Given the description of an element on the screen output the (x, y) to click on. 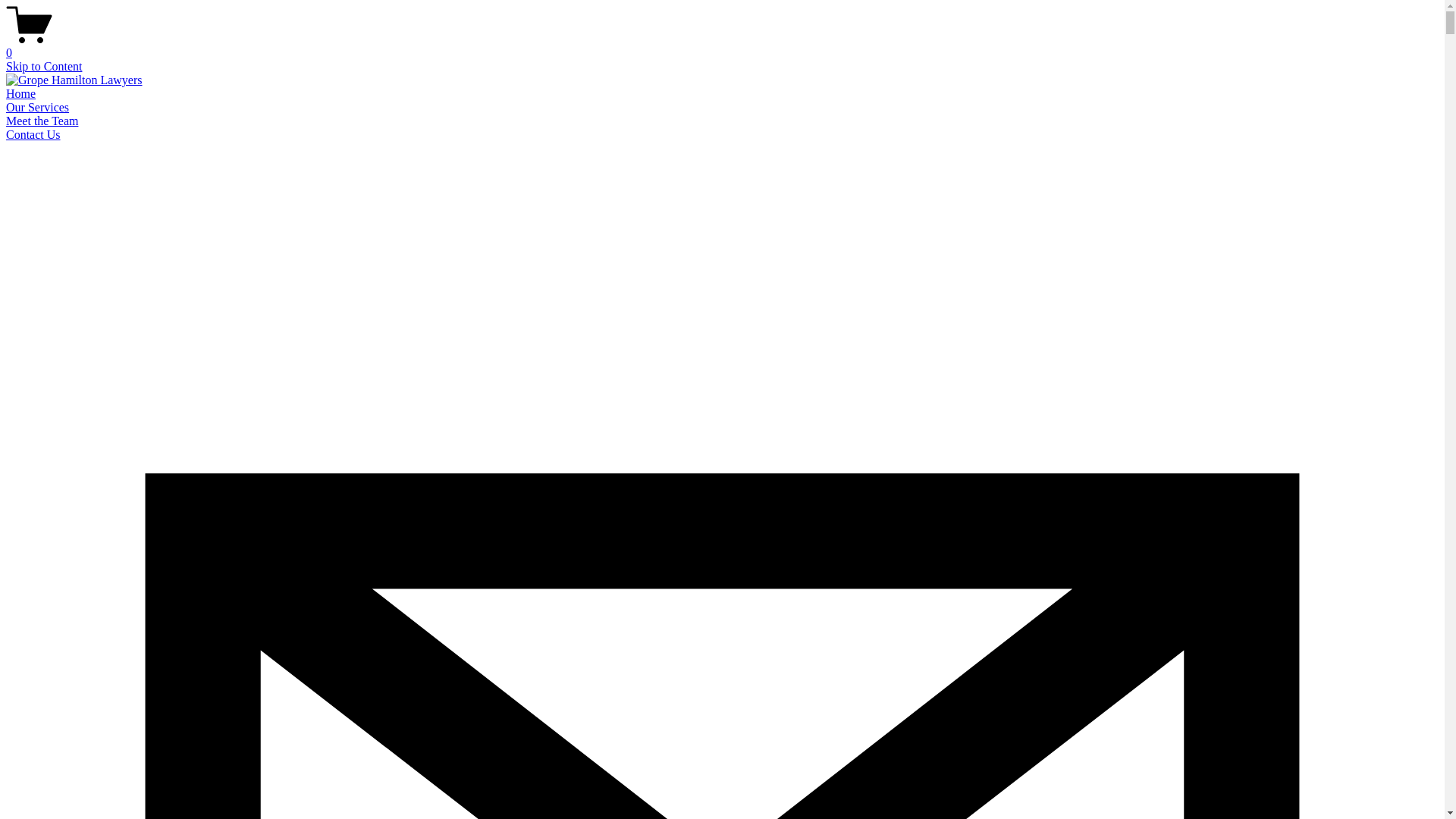
Contact Us Element type: text (33, 134)
Skip to Content Element type: text (43, 65)
0 Element type: text (722, 45)
Meet the Team Element type: text (42, 120)
Home Element type: text (20, 93)
Our Services Element type: text (37, 106)
